Given the description of an element on the screen output the (x, y) to click on. 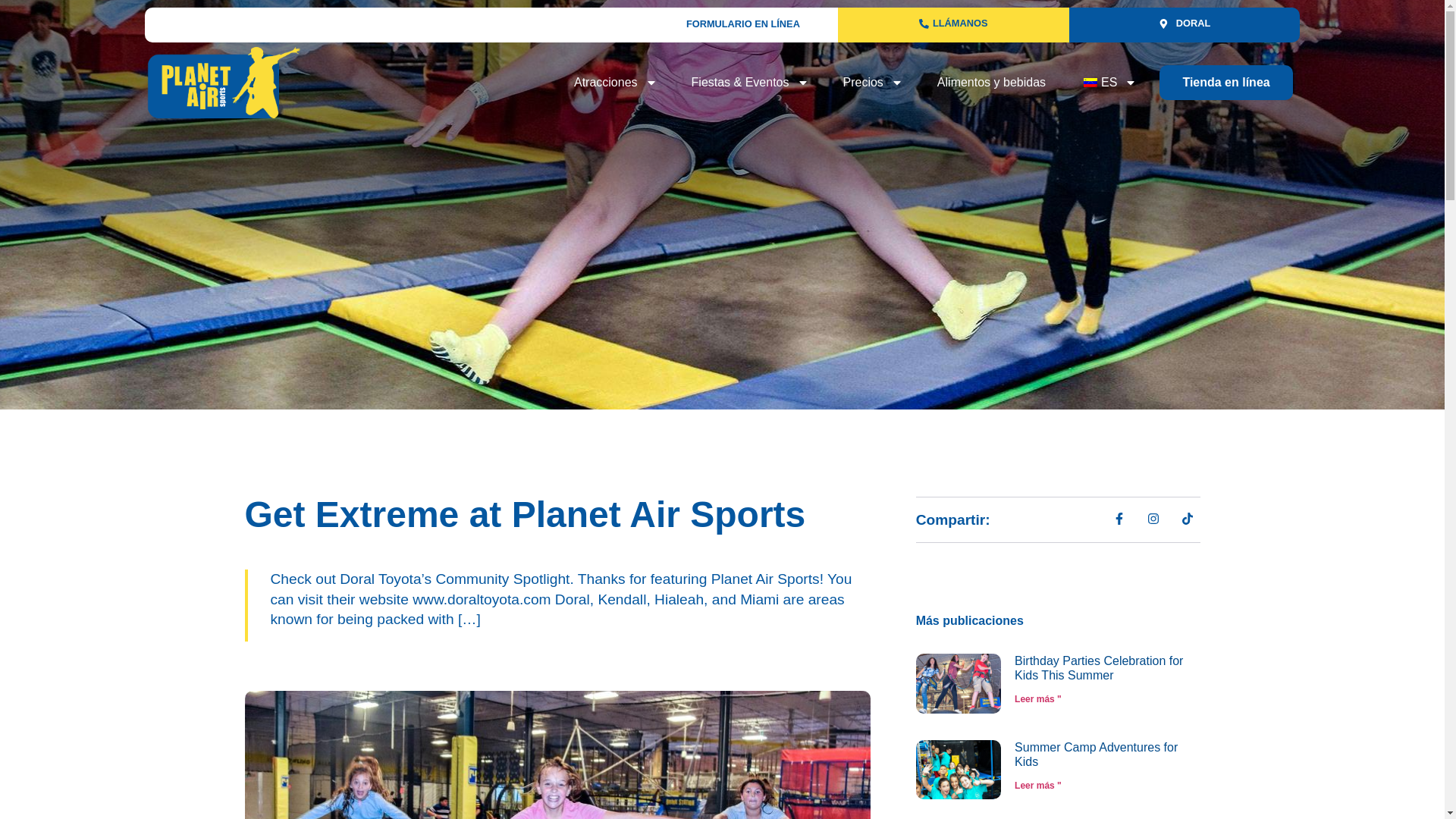
Precios (873, 82)
DORAL (1184, 24)
Spanish (1090, 81)
Alimentos y bebidas (991, 82)
Atracciones (615, 82)
